Given the description of an element on the screen output the (x, y) to click on. 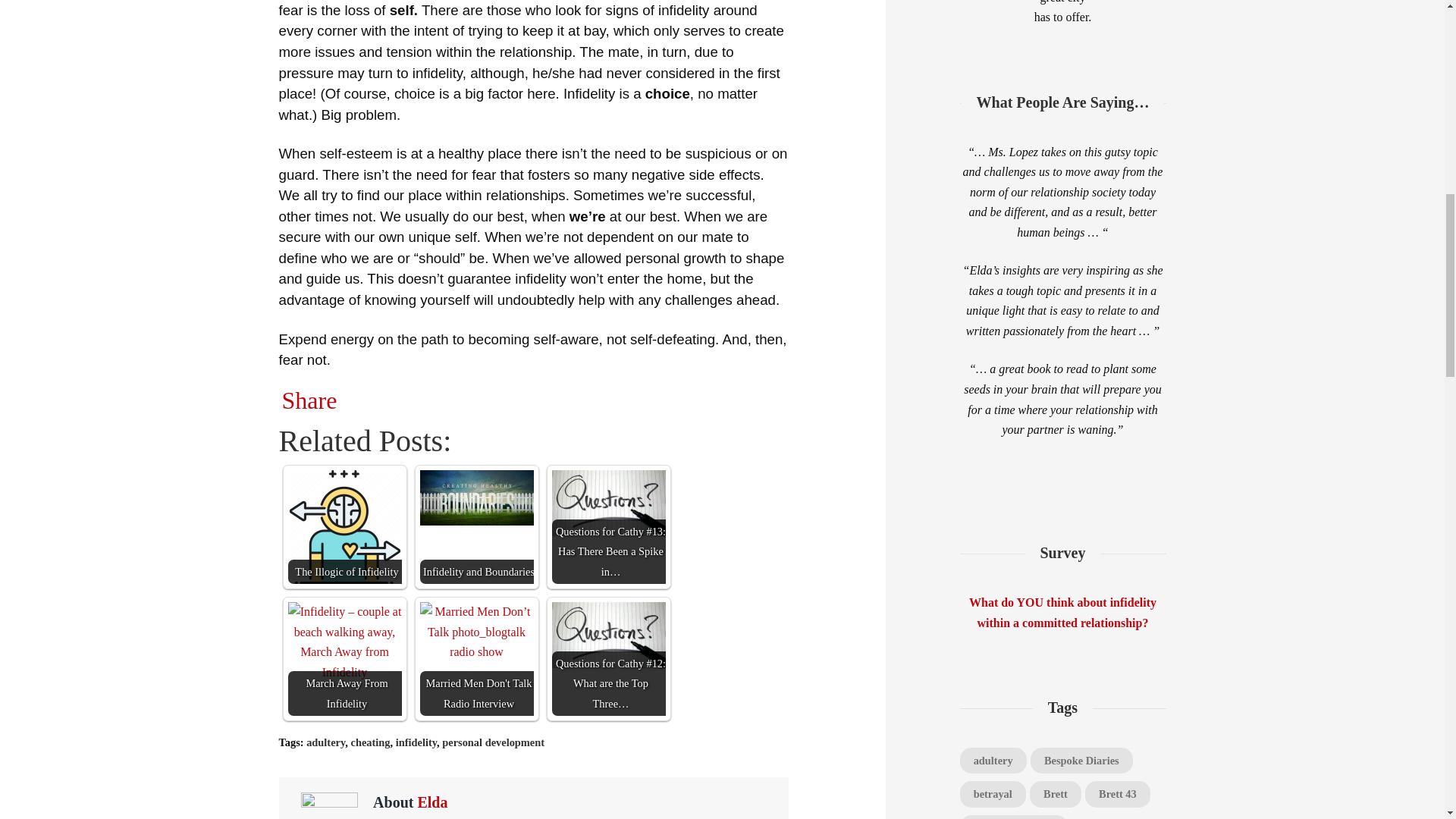
cheating (370, 742)
Infidelity and Boundaries (477, 497)
Married Men Don't Talk Radio Interview (477, 631)
adultery (325, 742)
March Away From Infidelity (344, 658)
Infidelity and Boundaries (477, 526)
Married Men Don't Talk Radio Interview (477, 658)
The Illogic of Infidelity (344, 526)
Share (309, 399)
The Illogic of Infidelity (344, 526)
March Away From Infidelity (344, 641)
